Given the description of an element on the screen output the (x, y) to click on. 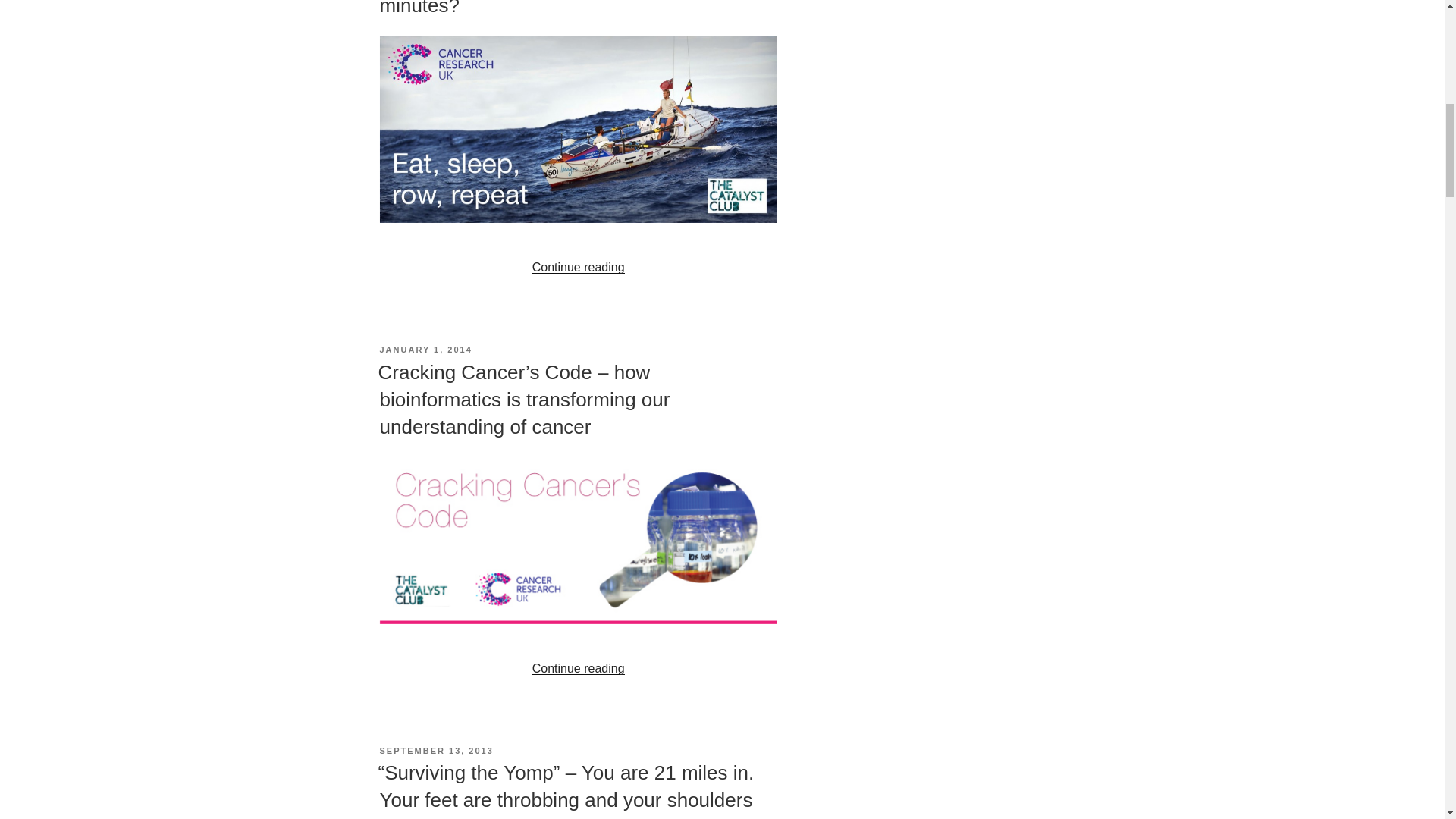
SEPTEMBER 13, 2013 (435, 750)
JANUARY 1, 2014 (424, 348)
